Given the description of an element on the screen output the (x, y) to click on. 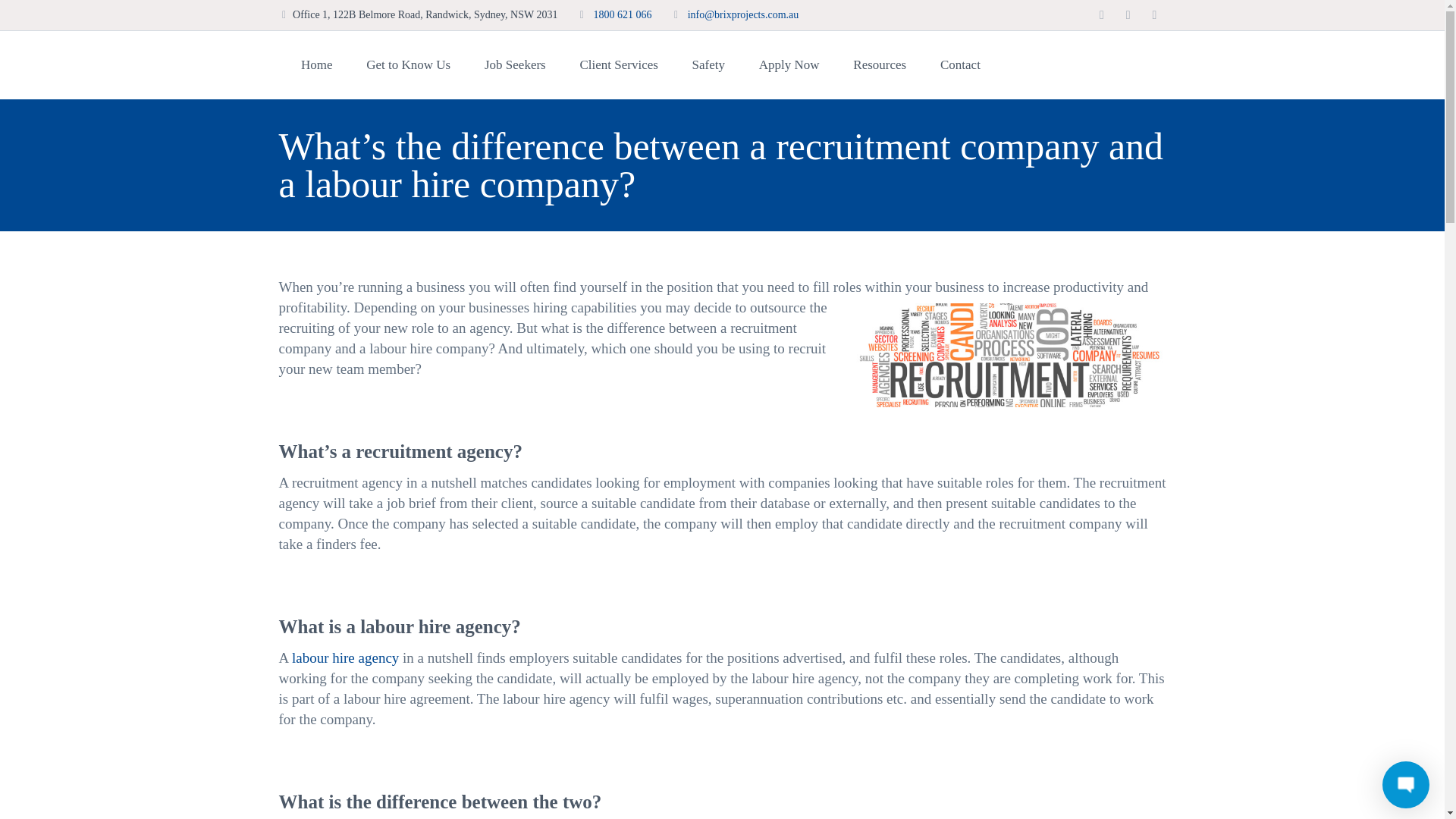
Client Services (618, 65)
Get to Know Us (407, 65)
LinkedIn (1154, 15)
Facebook (1128, 15)
Job Seekers (514, 65)
1800 621 066 (621, 14)
Instagram (1101, 15)
Facebook (1128, 15)
LinkedIn (1154, 15)
Home (316, 65)
Instagram (1101, 15)
